Given the description of an element on the screen output the (x, y) to click on. 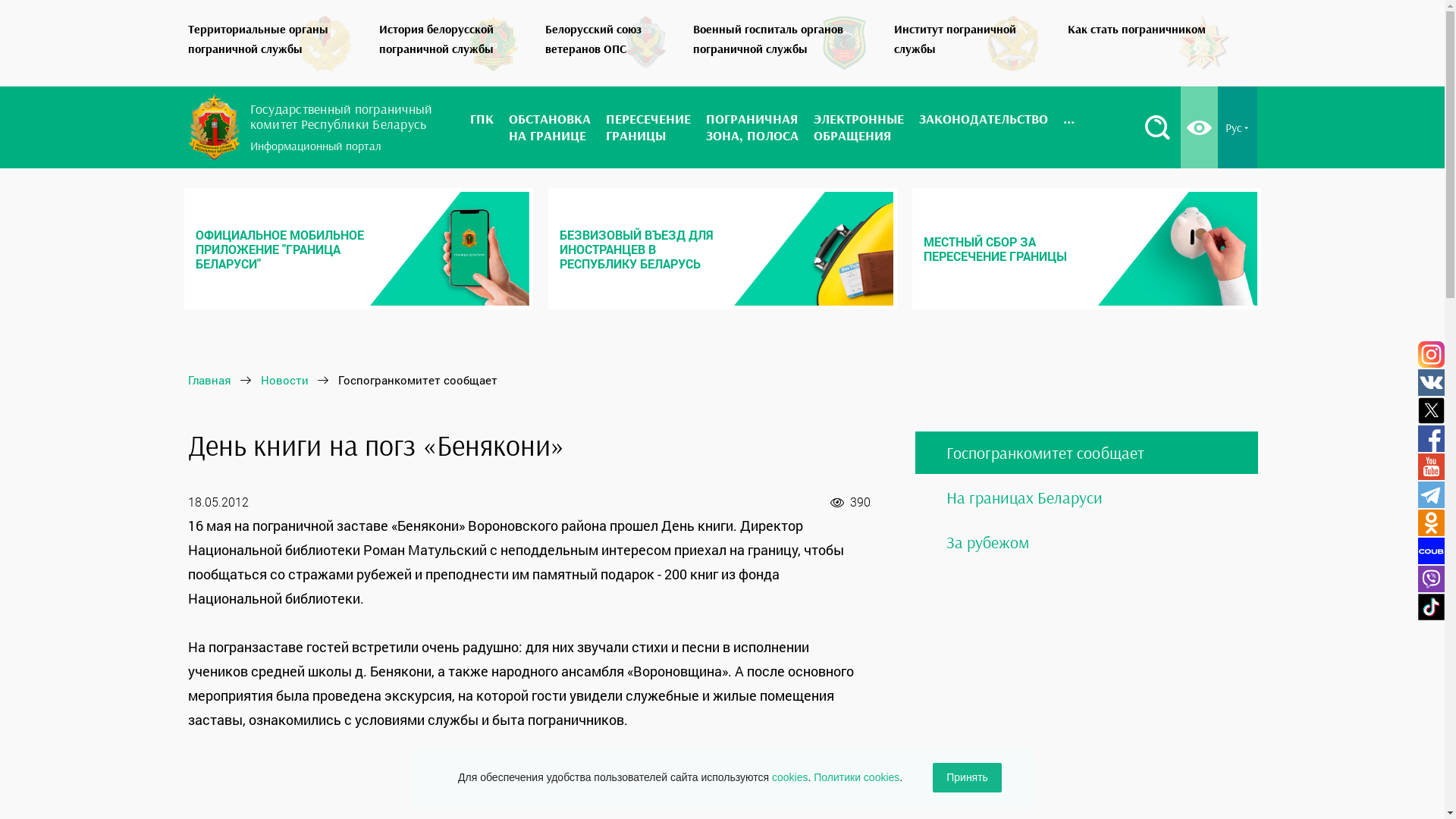
cookies Element type: text (789, 777)
... Element type: text (1068, 127)
